Given the description of an element on the screen output the (x, y) to click on. 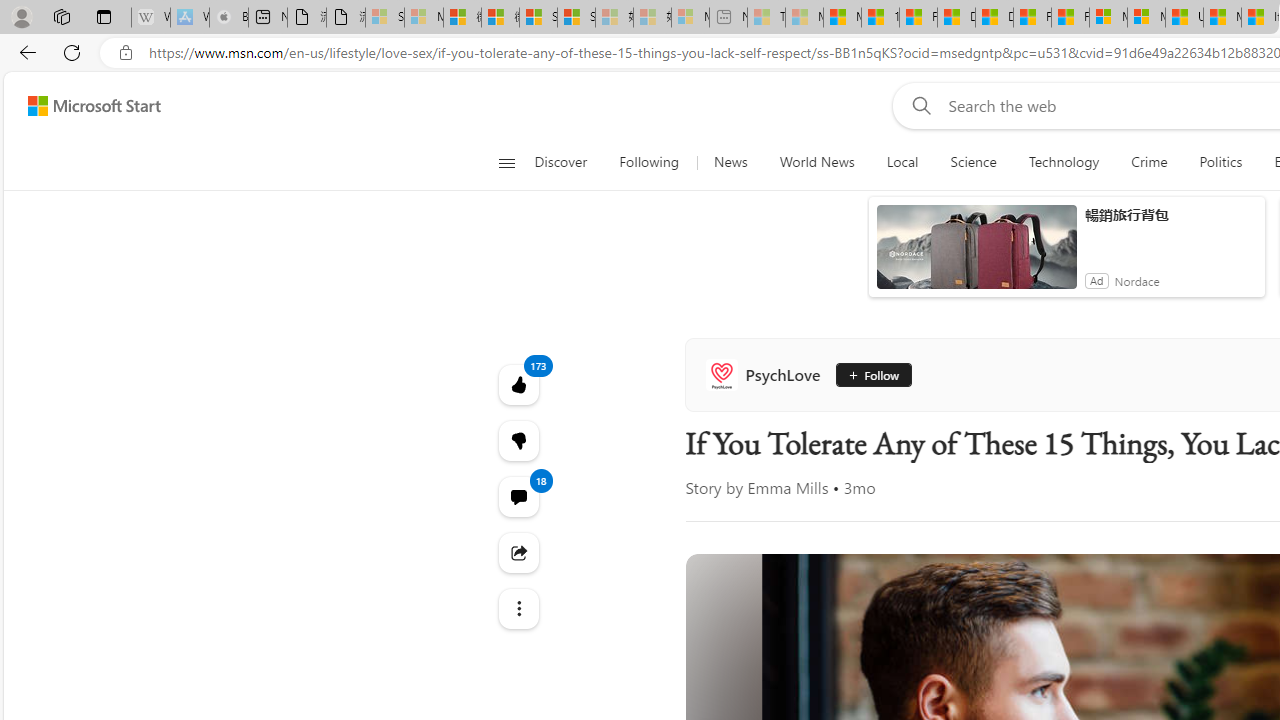
Buy iPad - Apple - Sleeping (228, 17)
Top Stories - MSN - Sleeping (765, 17)
Foo BAR | Trusted Community Engagement and Contributions (1070, 17)
